Given the description of an element on the screen output the (x, y) to click on. 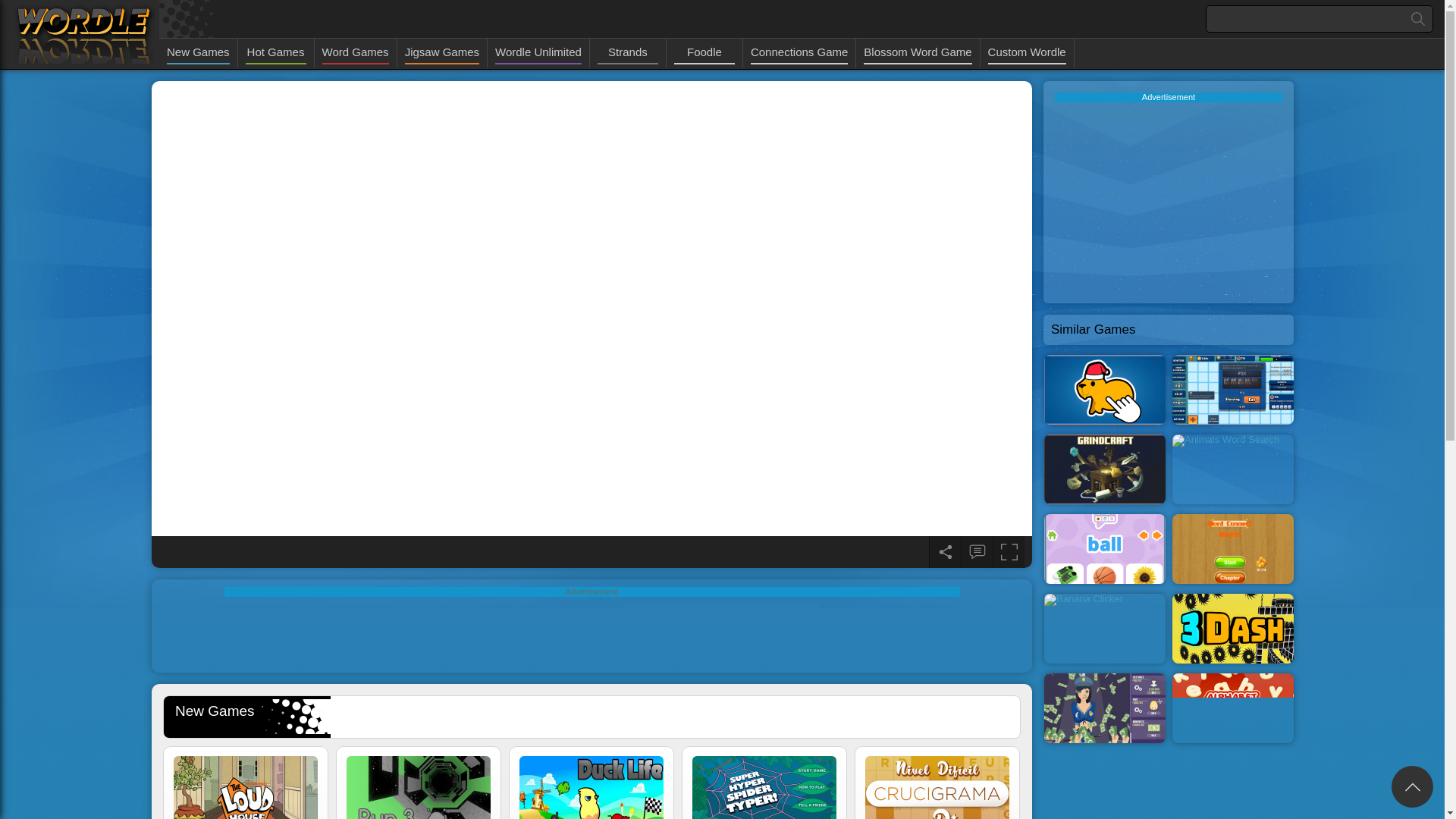
Strands (627, 52)
Foodle (704, 52)
Duck Life (591, 787)
Wordle Unlimited (537, 52)
Super Hyper Spider Typer (764, 787)
Hot Games (275, 52)
Wordle Website (83, 35)
Jigsaw Games (441, 52)
Word Games (354, 52)
New Games (198, 52)
